Given the description of an element on the screen output the (x, y) to click on. 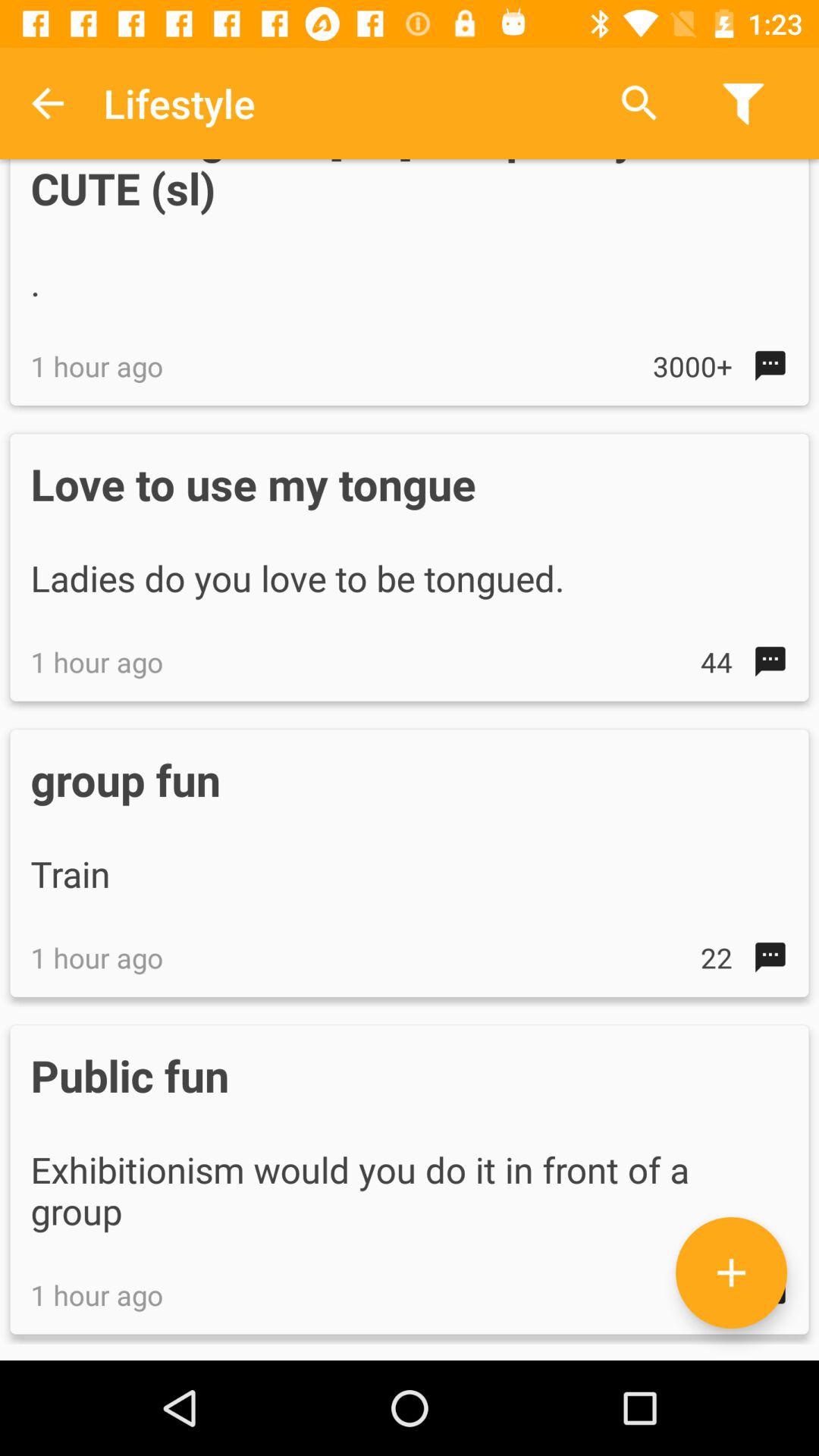
read comments (731, 1272)
